Given the description of an element on the screen output the (x, y) to click on. 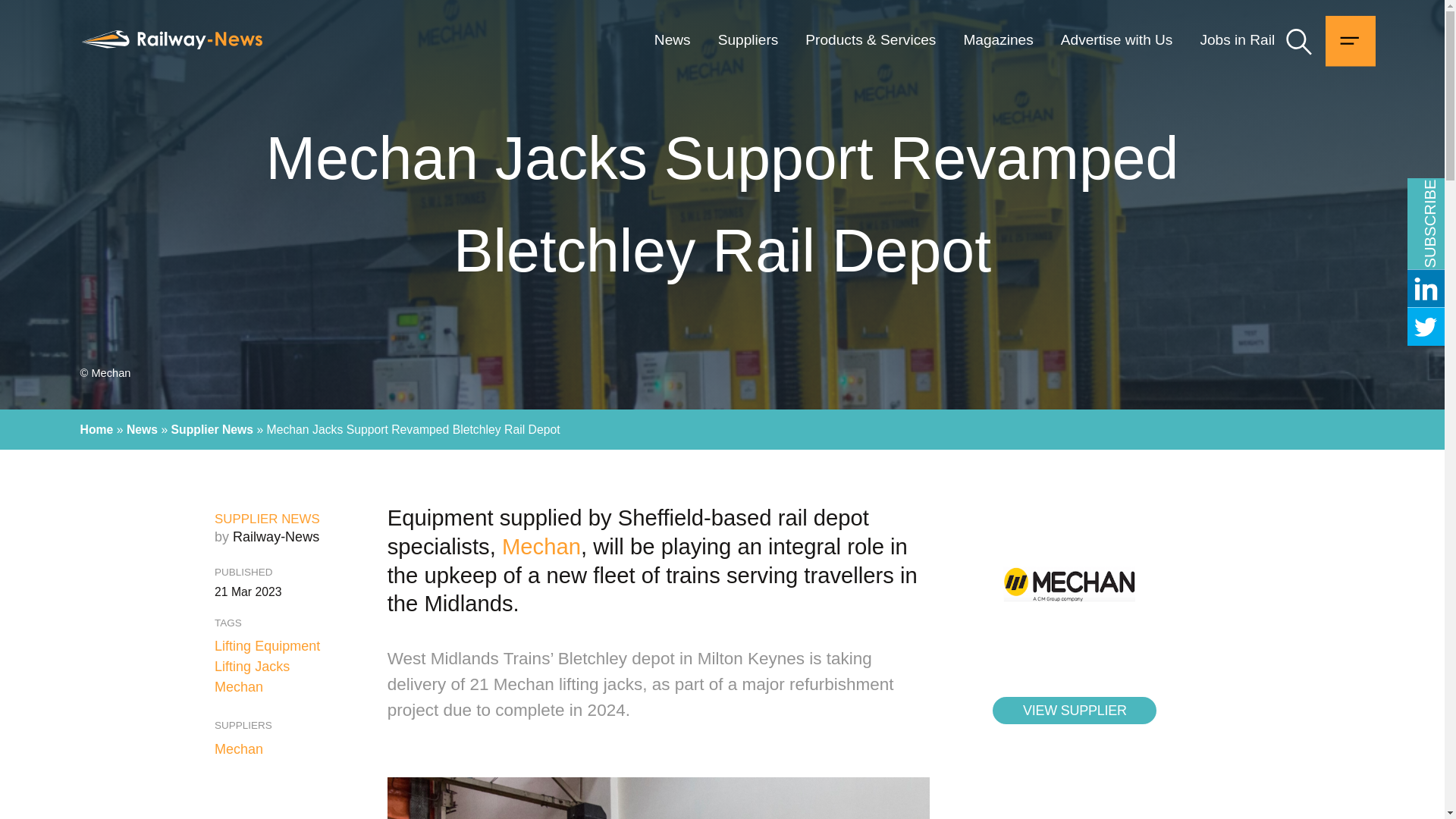
Jobs in Rail (1230, 40)
News (141, 429)
Mechan (541, 546)
Menu (1349, 40)
Search (1299, 40)
Magazines (997, 40)
Back to Supplier News (267, 518)
Mechan (238, 686)
Suppliers (748, 40)
Supplier News (212, 429)
SUPPLIER NEWS (267, 518)
VIEW SUPPLIER (1074, 710)
Mechan (290, 749)
News (678, 40)
Go back to the homepage (171, 39)
